Given the description of an element on the screen output the (x, y) to click on. 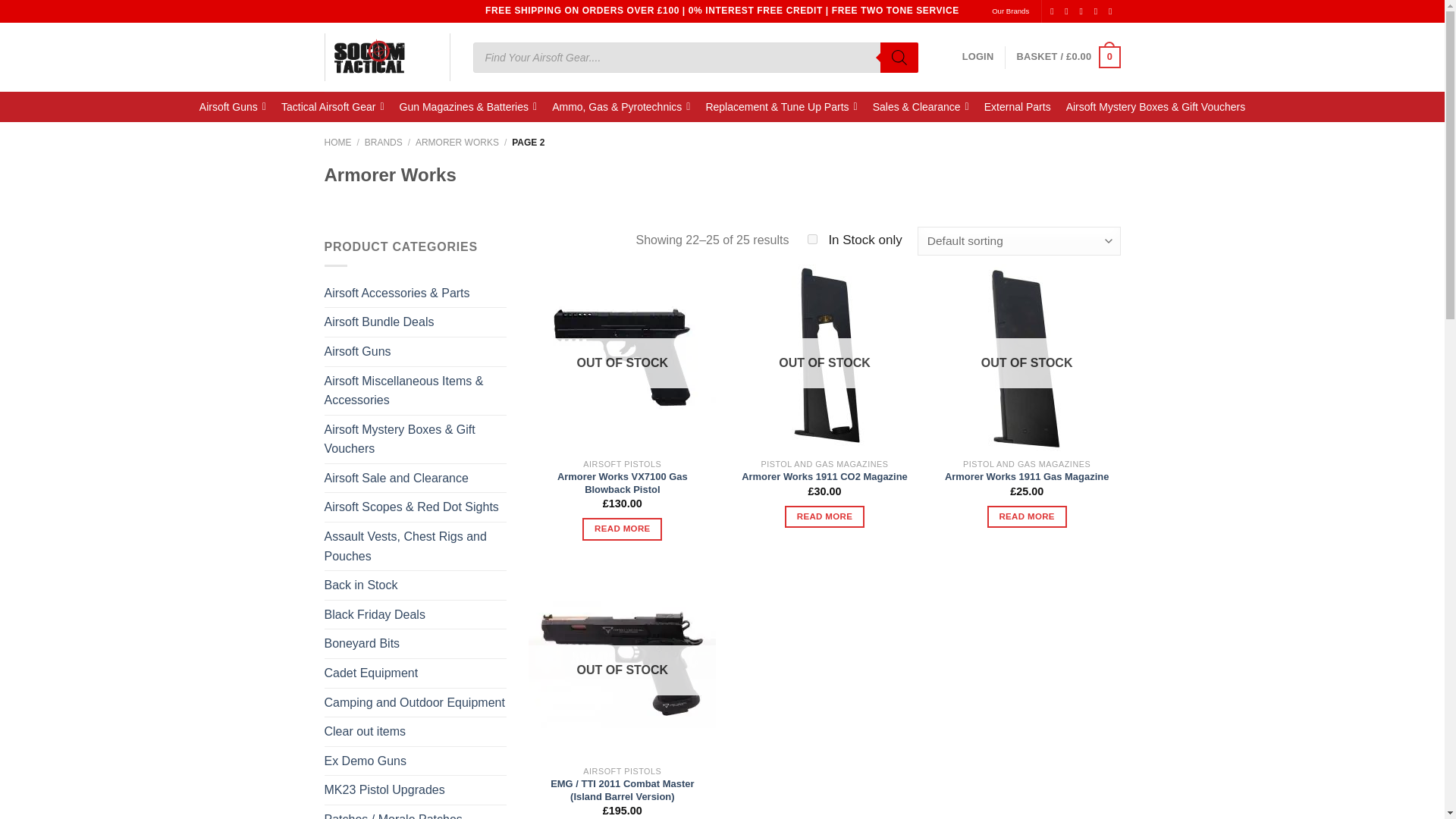
Airsoft Guns (232, 106)
Tactical Airsoft Gear (332, 106)
instock (812, 239)
Basket (1067, 57)
LOGIN (978, 56)
Our Brands (1010, 10)
